Given the description of an element on the screen output the (x, y) to click on. 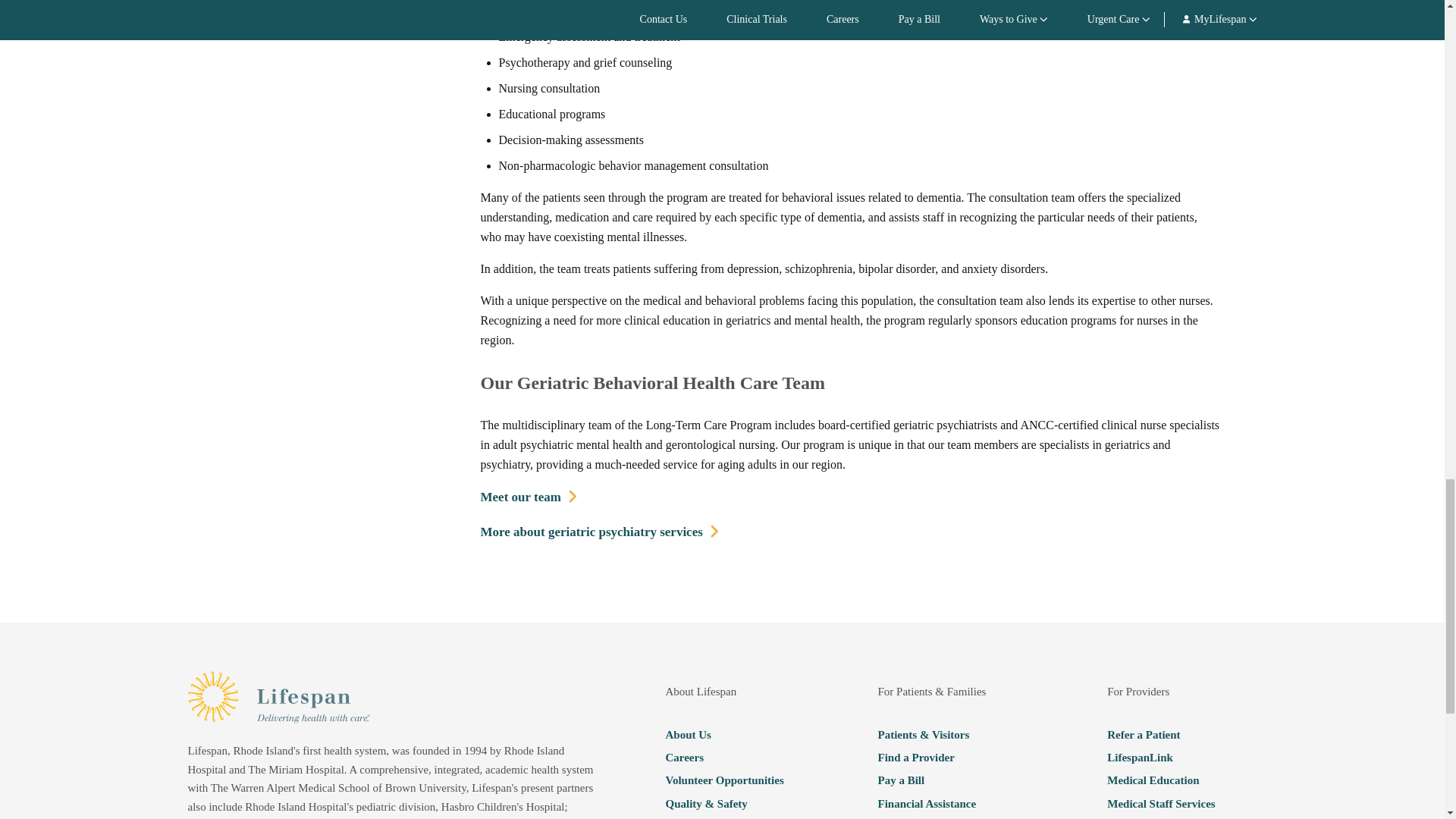
Sign up or access the MyLifespan online patient portal (945, 817)
Find a Lifespan provider (945, 757)
How to refer a patient to a Lifespan service or provider (1175, 734)
Information about financial assistance (945, 803)
Our Geriatric Psychiatry Care Team (529, 497)
Information about Lifespan Link (1175, 757)
Pay a bill online (945, 780)
Geriatric Psychiatry (599, 532)
